Given the description of an element on the screen output the (x, y) to click on. 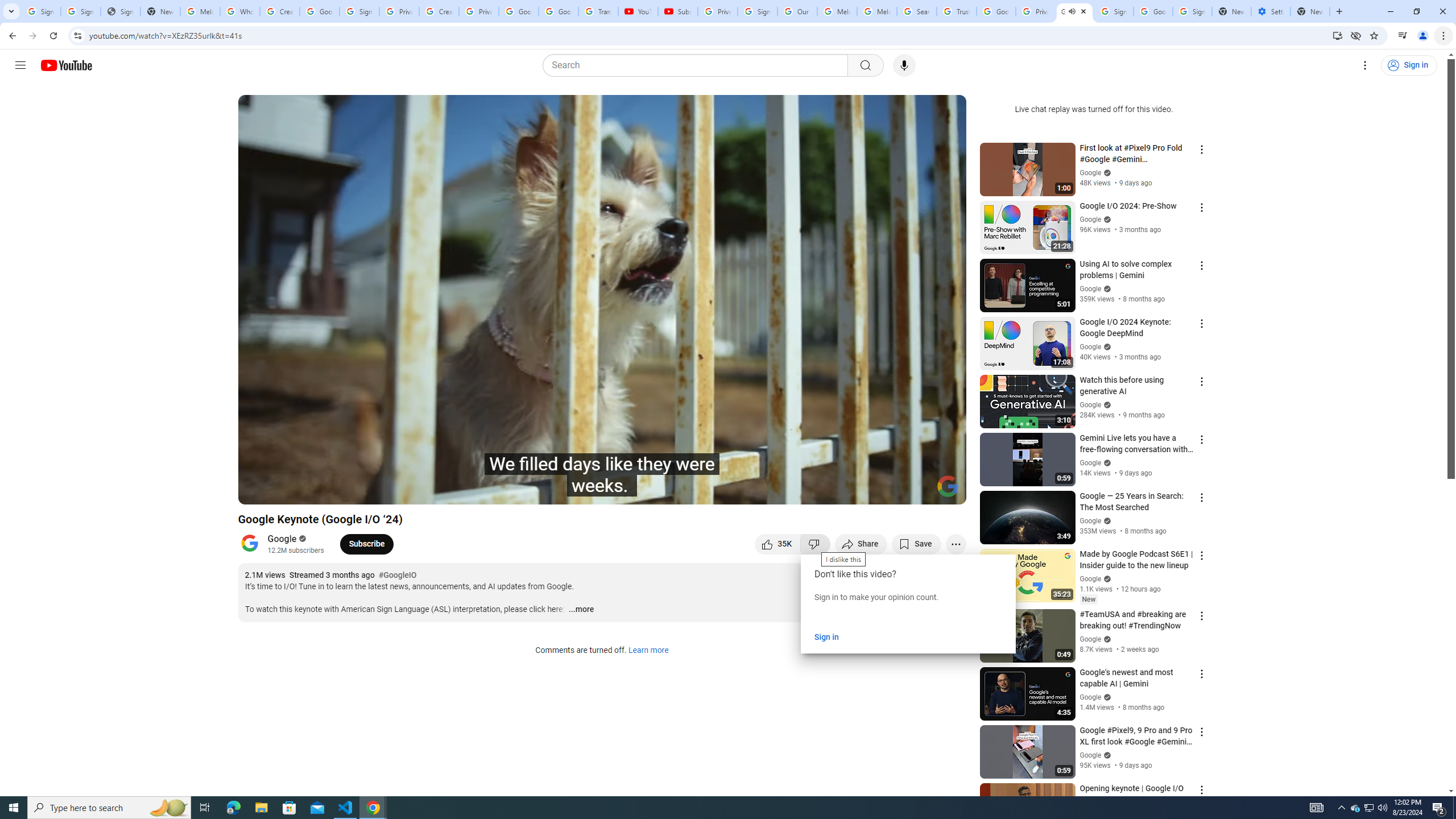
YouTube (637, 11)
Sign in - Google Accounts (1192, 11)
Google Cybersecurity Innovations - Google Safety Center (1152, 11)
Install YouTube (1336, 35)
Create your Google Account (279, 11)
